Given the description of an element on the screen output the (x, y) to click on. 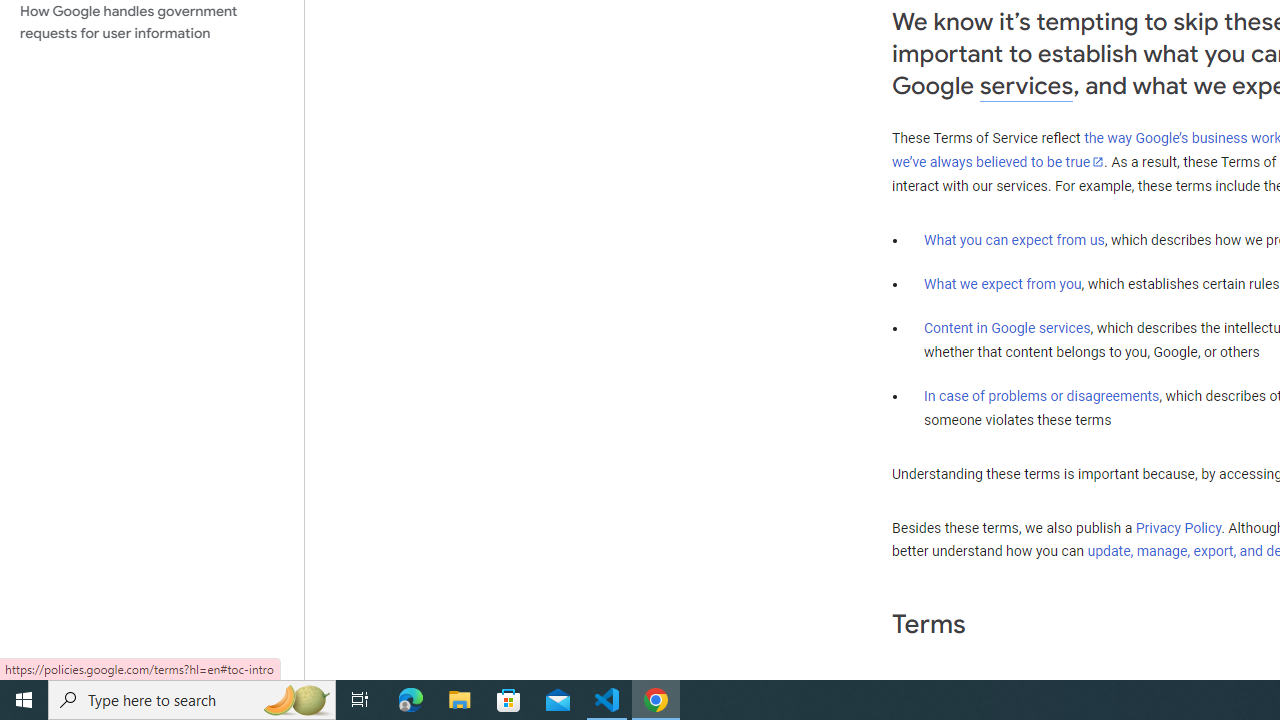
services (1026, 85)
Content in Google services (1007, 327)
What you can expect from us (1014, 240)
In case of problems or disagreements (1041, 395)
What we expect from you (1002, 284)
